Given the description of an element on the screen output the (x, y) to click on. 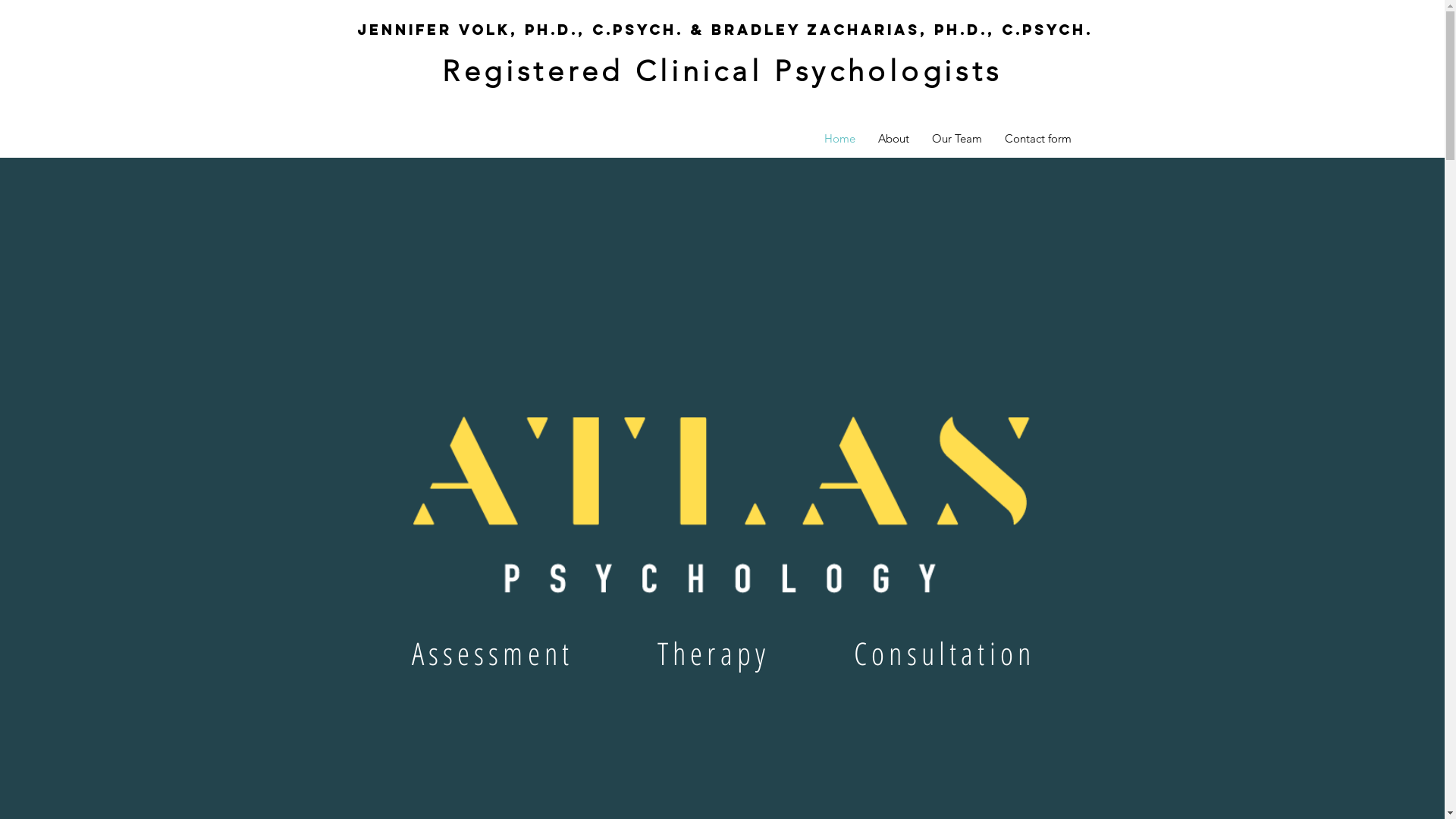
  Element type: text (722, 105)
Registered Clinical Psychologists Element type: text (722, 70)
Our Team Element type: text (956, 138)
About Element type: text (892, 138)
Contact form Element type: text (1037, 138)
Home Element type: text (839, 138)
